Given the description of an element on the screen output the (x, y) to click on. 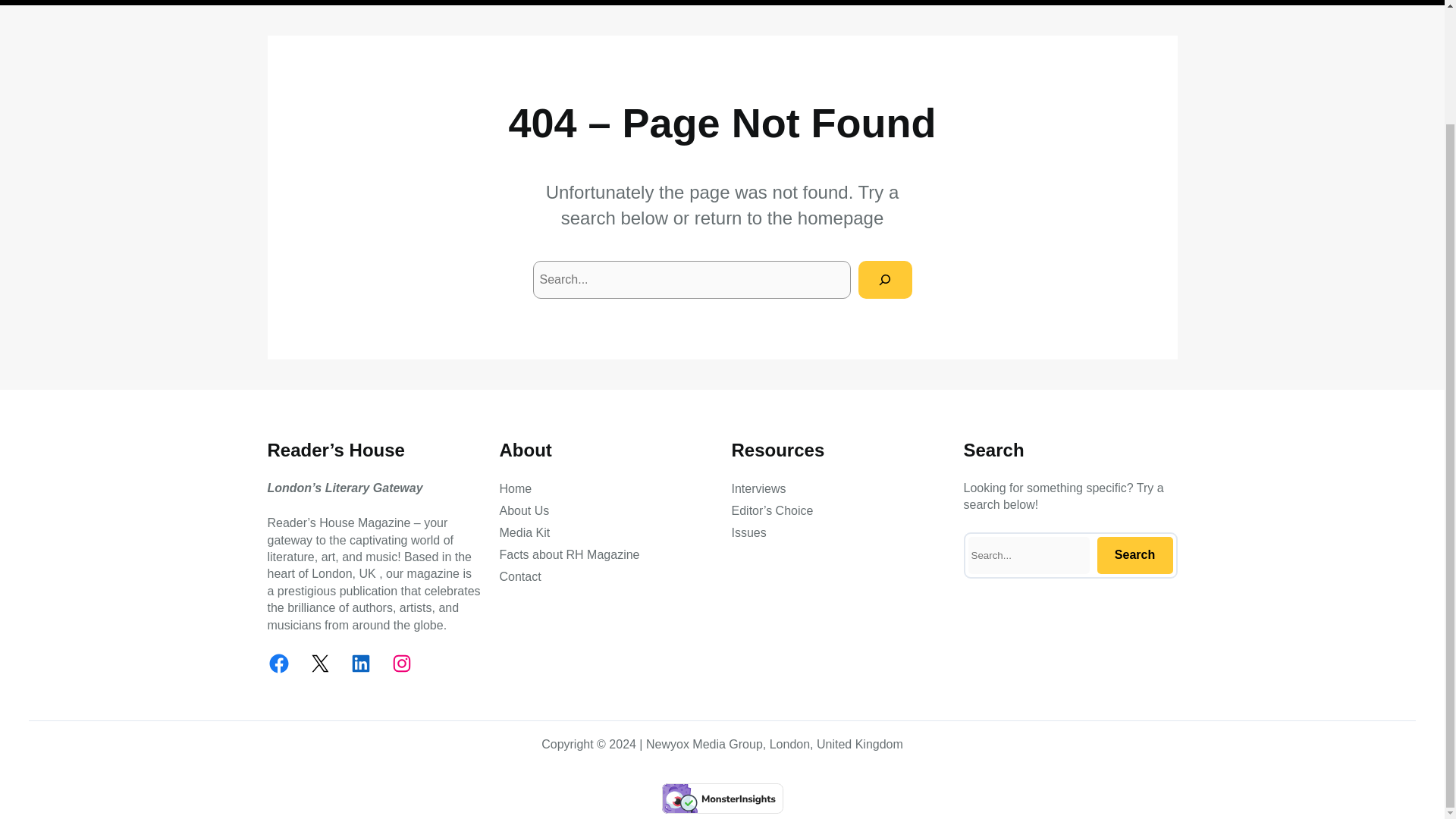
Facebook (277, 662)
X (318, 662)
Contact (519, 577)
Media Kit (524, 533)
Verified by MonsterInsights (722, 798)
Search (1134, 555)
Home (515, 488)
Issues (747, 533)
homepage (840, 218)
Instagram (401, 662)
